Given the description of an element on the screen output the (x, y) to click on. 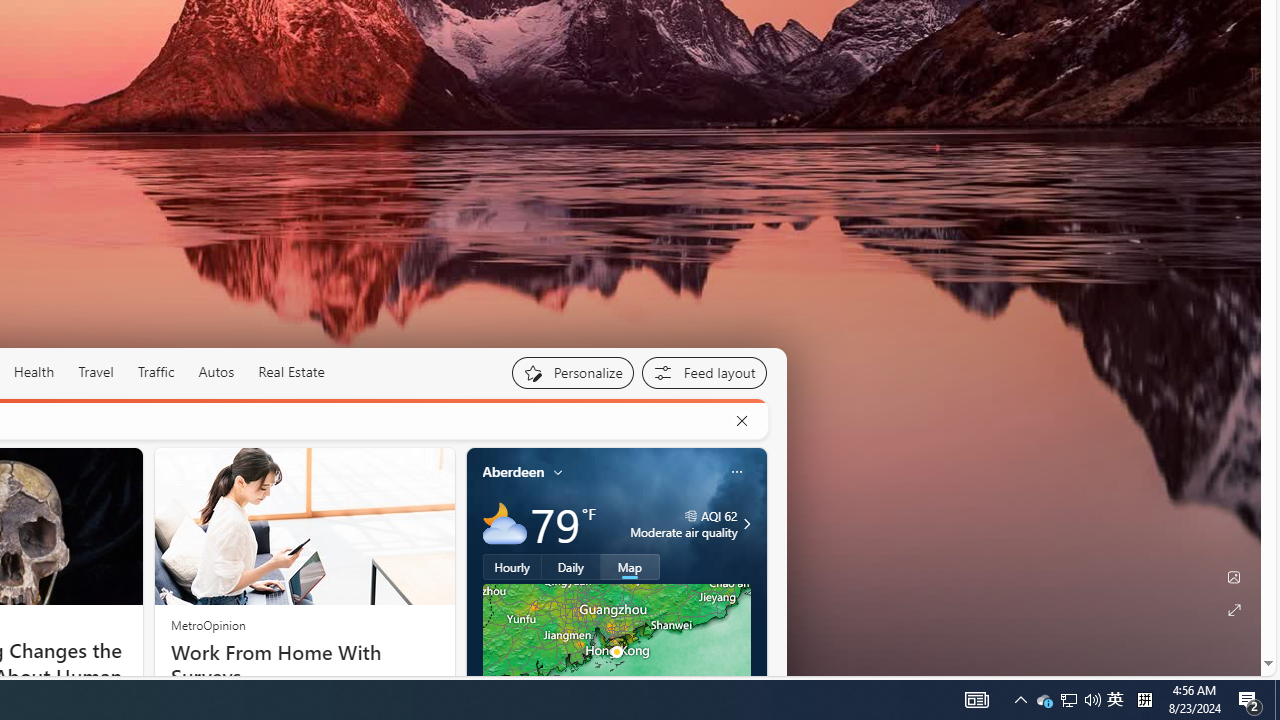
Class: icon-img (736, 471)
MetroOpinion (207, 624)
Expand background (1233, 610)
Daily (571, 566)
Aberdeen (513, 471)
Autos (216, 372)
Autos (215, 371)
aqi-icon (690, 515)
Work From Home With Surveys (304, 664)
Personalize your feed" (571, 372)
Feed settings (703, 372)
